Given the description of an element on the screen output the (x, y) to click on. 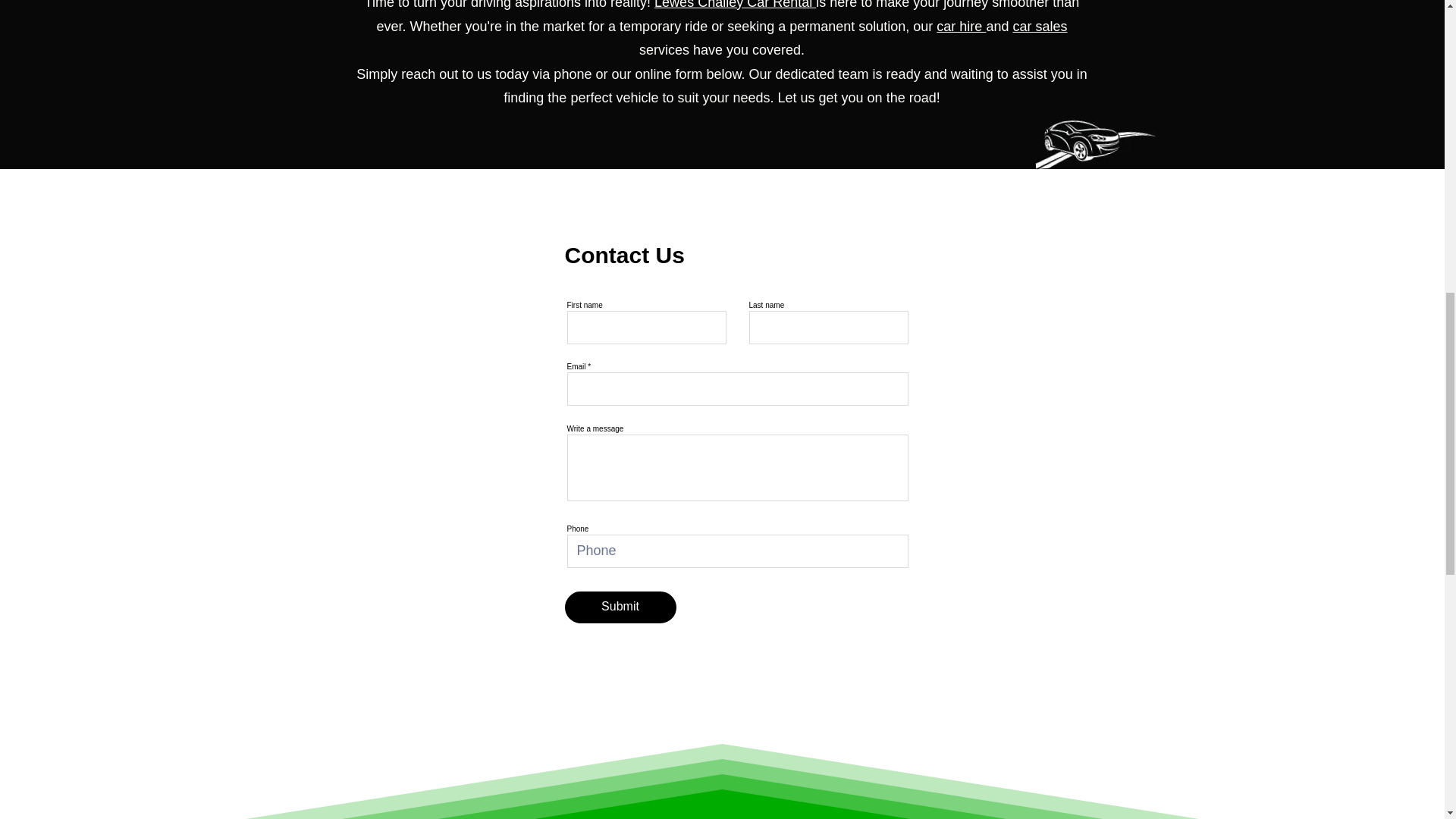
Capture.JPG (1090, 128)
car hire (960, 25)
Submit (619, 607)
car sales (1039, 25)
Lewes Chailey Car Rental (734, 4)
